Given the description of an element on the screen output the (x, y) to click on. 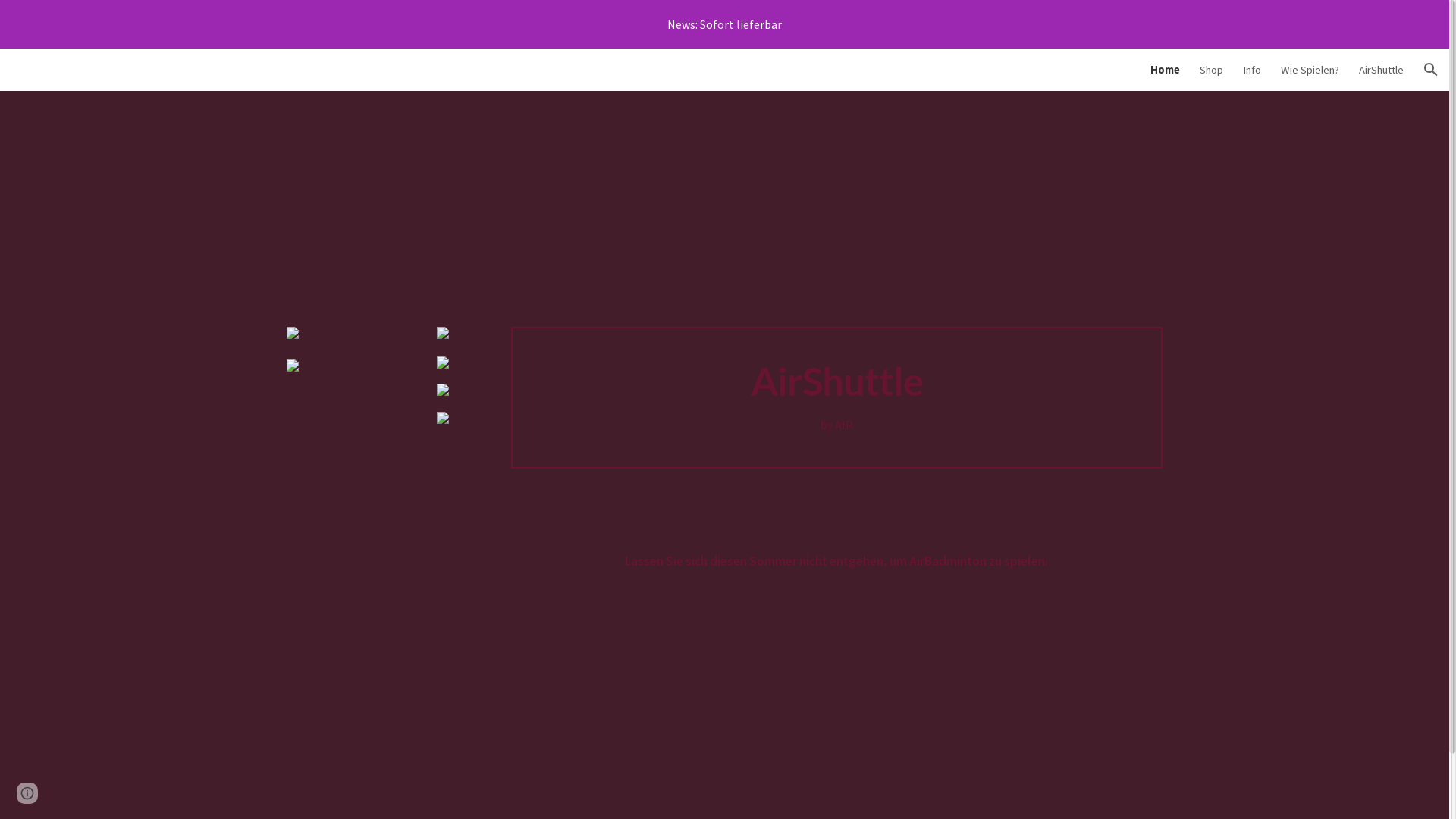
Home Element type: text (1164, 69)
AirShuttle Element type: text (1380, 69)
Wie Spielen? Element type: text (1309, 69)
Info Element type: text (1251, 69)
Shop Element type: text (1211, 69)
